Given the description of an element on the screen output the (x, y) to click on. 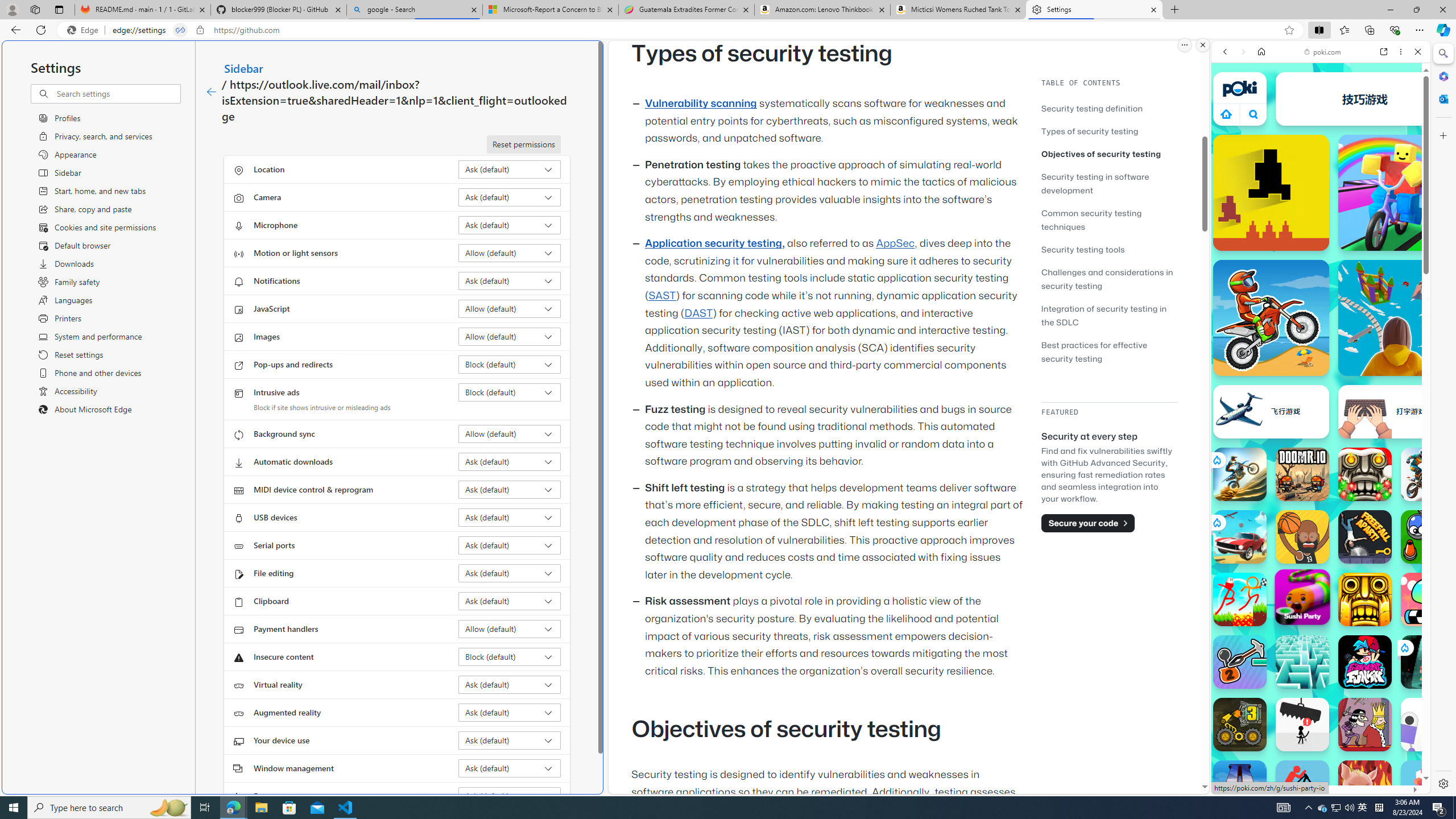
App bar (728, 29)
Hills of Steel (1264, 580)
Add this page to favorites (Ctrl+D) (1289, 29)
Blumgi Slime (1427, 599)
Odd Bot Out (1427, 724)
Combat Reloaded (1348, 574)
JavaScript Allow (default) (509, 308)
Preferences (1403, 129)
Search Filter, Search Tools (1350, 129)
Personal Profile (12, 9)
Back (1225, 51)
Doomr.io Doomr.io (1302, 474)
Freefall Apart Freefall Apart (1364, 536)
